Given the description of an element on the screen output the (x, y) to click on. 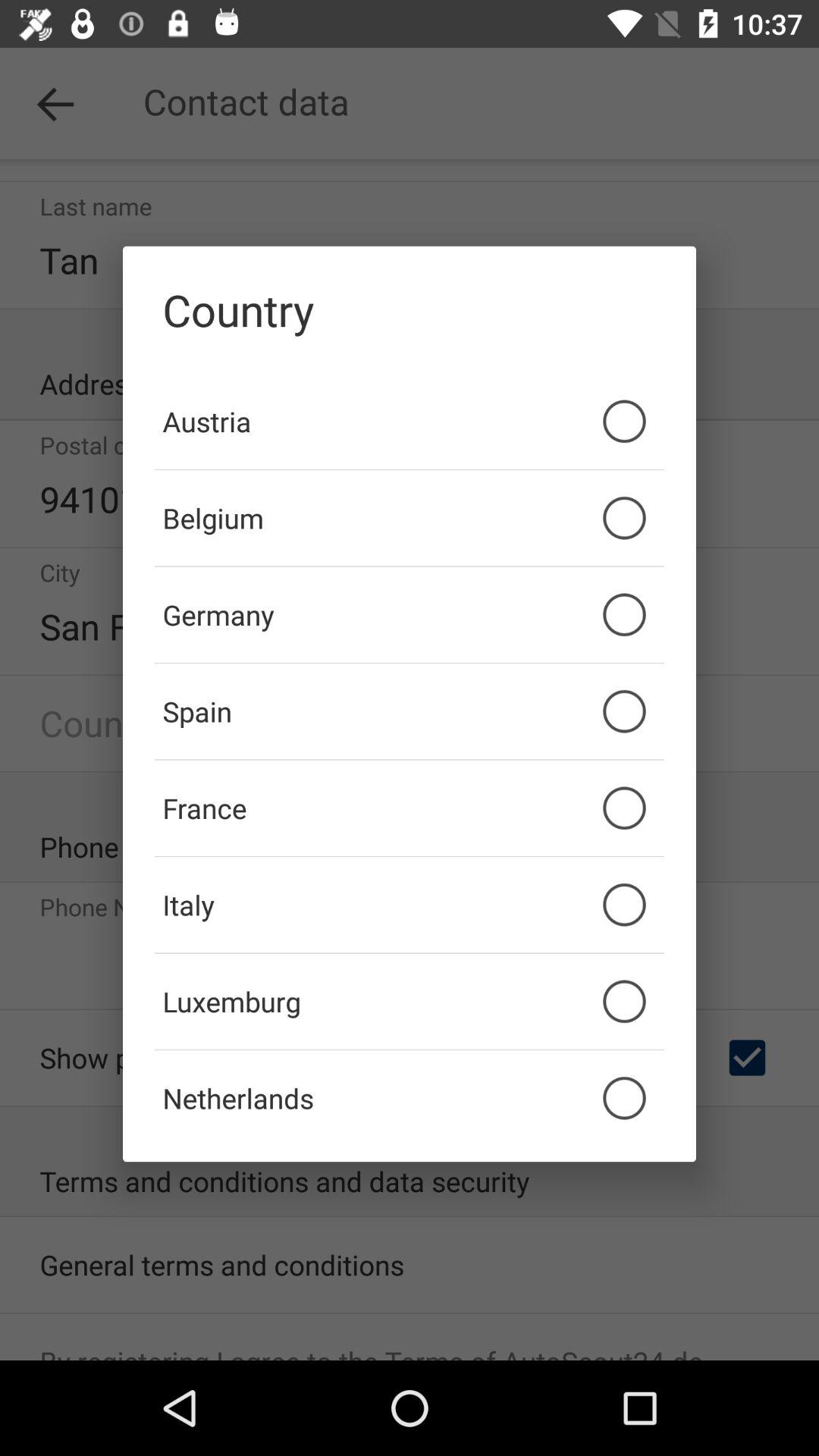
press item below country item (409, 421)
